Given the description of an element on the screen output the (x, y) to click on. 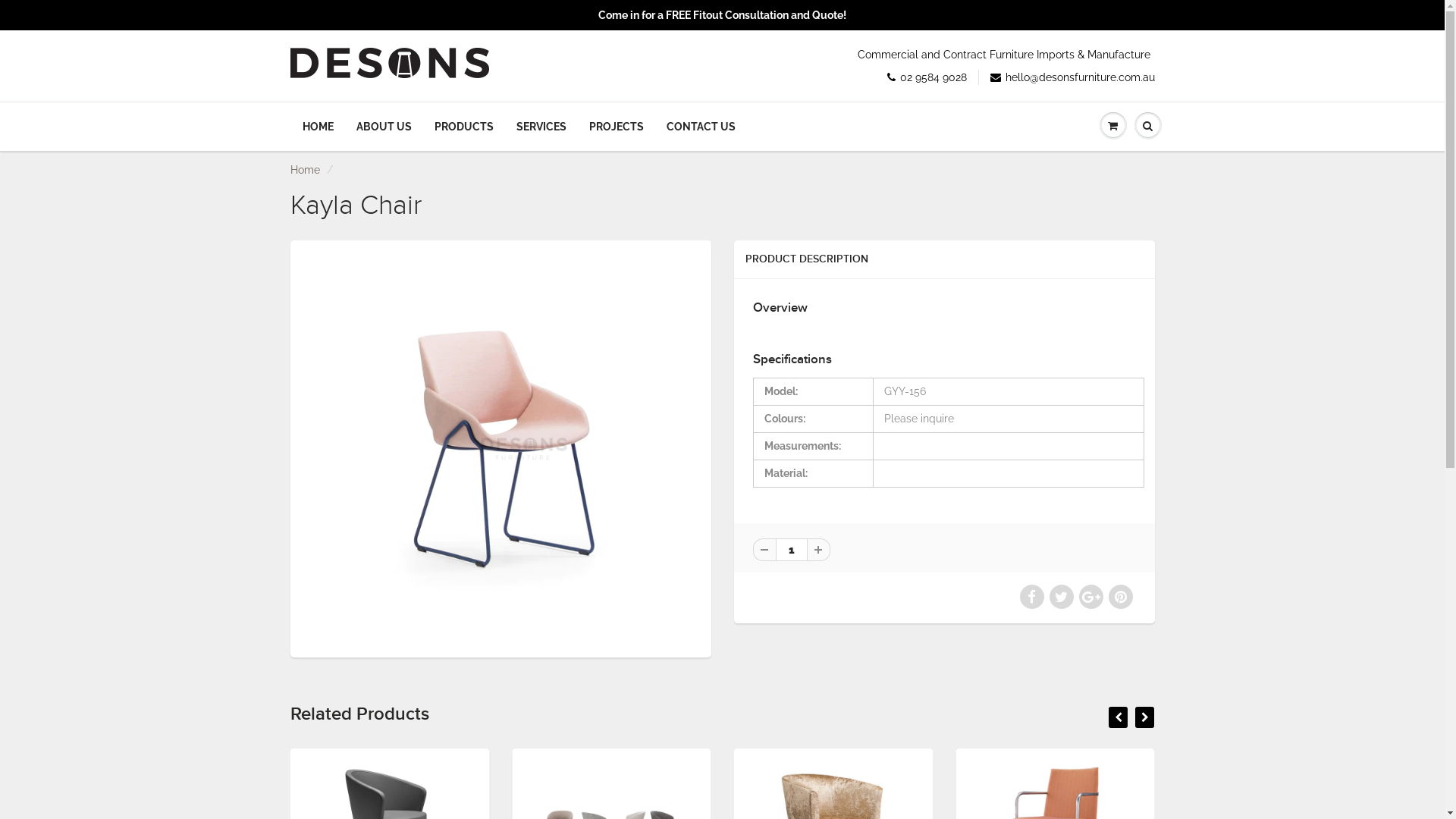
SERVICES Element type: text (541, 126)
PRODUCTS Element type: text (464, 126)
PROJECTS Element type: text (616, 126)
Home Element type: text (304, 169)
02 9584 9028 Element type: text (926, 76)
CONTACT US Element type: text (700, 126)
HOME Element type: text (318, 126)
hello@desonsfurniture.com.au Element type: text (1072, 76)
ABOUT US Element type: text (383, 126)
Kayla Chair Element type: hover (500, 446)
